Given the description of an element on the screen output the (x, y) to click on. 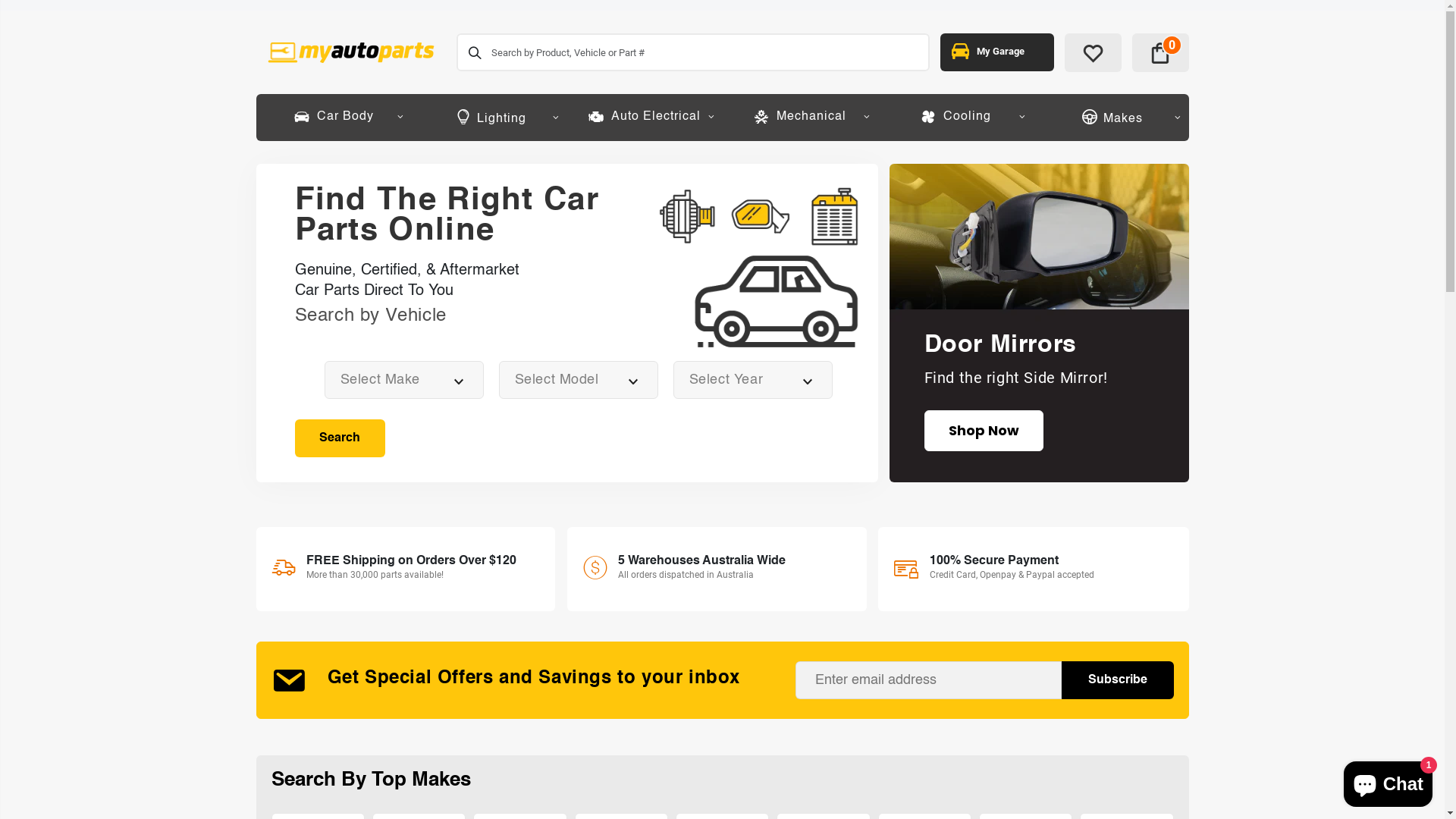
Shop Now Element type: text (982, 430)
Mechanical Element type: text (799, 116)
Makes Element type: text (1110, 117)
0 Element type: text (1159, 52)
Cooling Element type: text (955, 116)
Car Body Element type: text (333, 116)
My Garage Element type: text (997, 52)
Search Element type: text (475, 52)
Shopify online store chat Element type: hover (1388, 780)
Lighting Element type: text (488, 117)
Search Element type: text (339, 438)
Subscribe Element type: text (1117, 680)
Auto Electrical Element type: text (644, 116)
